Given the description of an element on the screen output the (x, y) to click on. 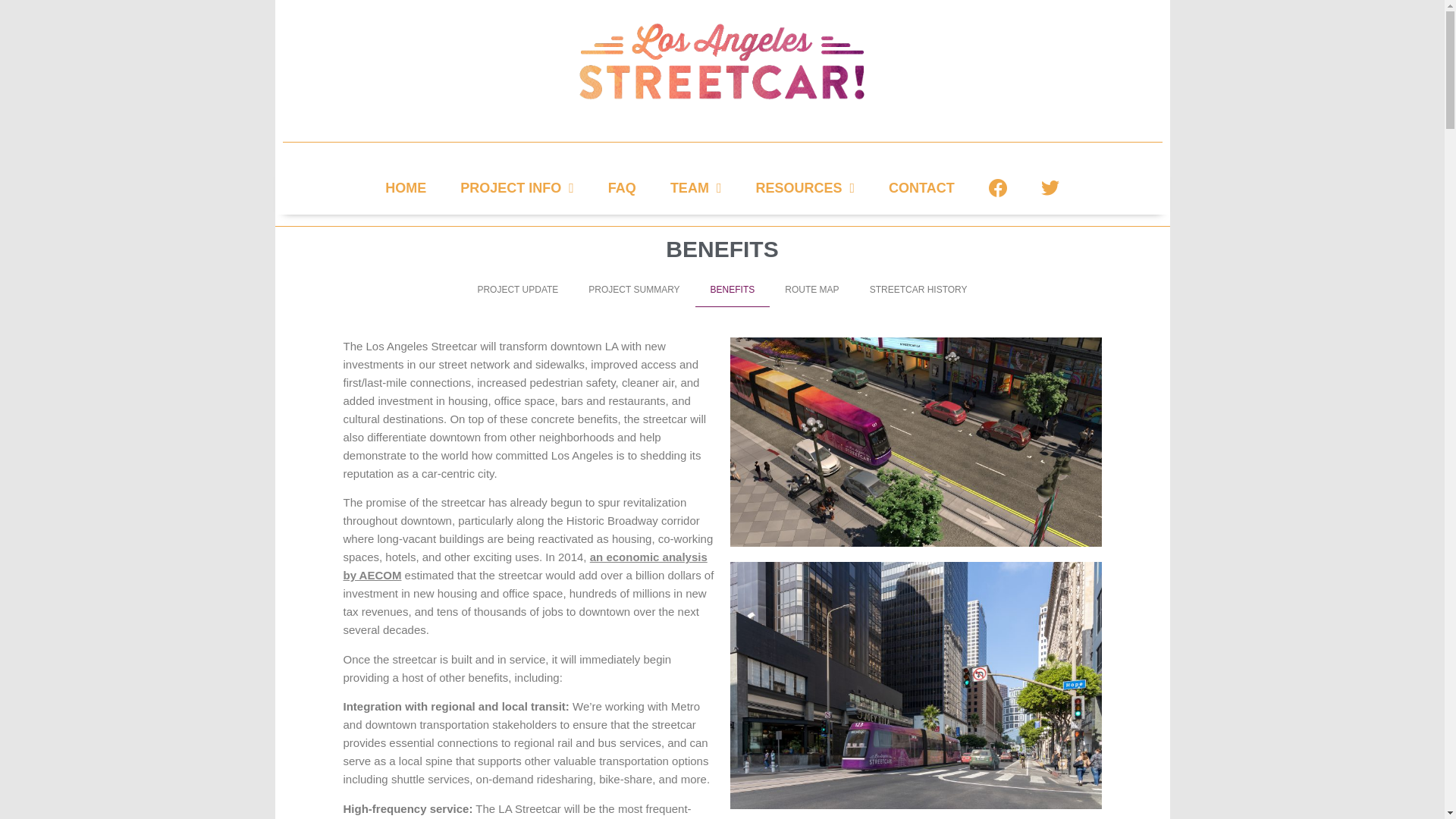
FAQ (621, 187)
TEAM (695, 187)
RESOURCES (804, 187)
PROJECT UPDATE (517, 289)
PROJECT INFO (517, 187)
CONTACT (921, 187)
HOME (405, 187)
